Given the description of an element on the screen output the (x, y) to click on. 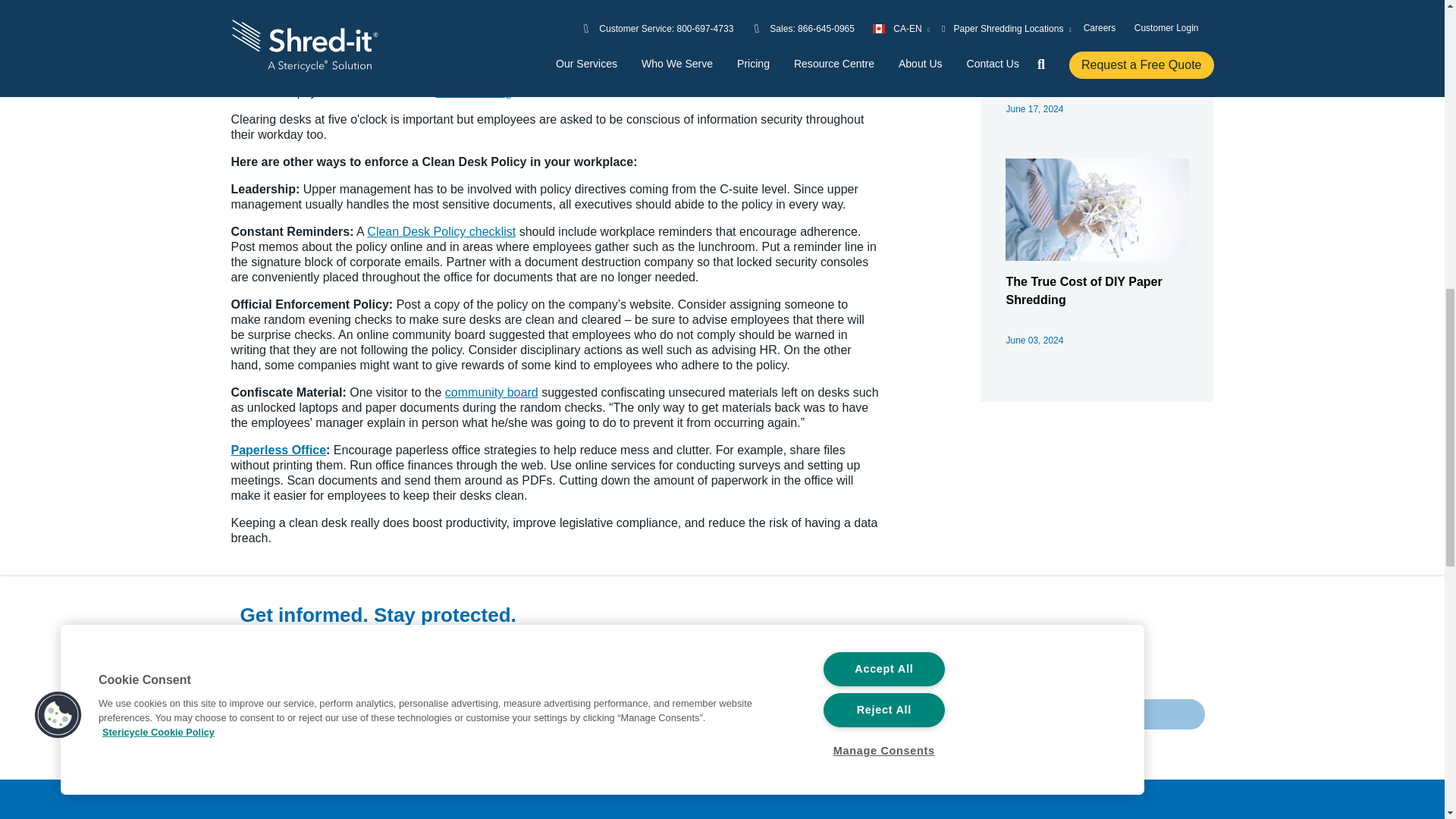
Please enter a valid email address. (844, 720)
